Given the description of an element on the screen output the (x, y) to click on. 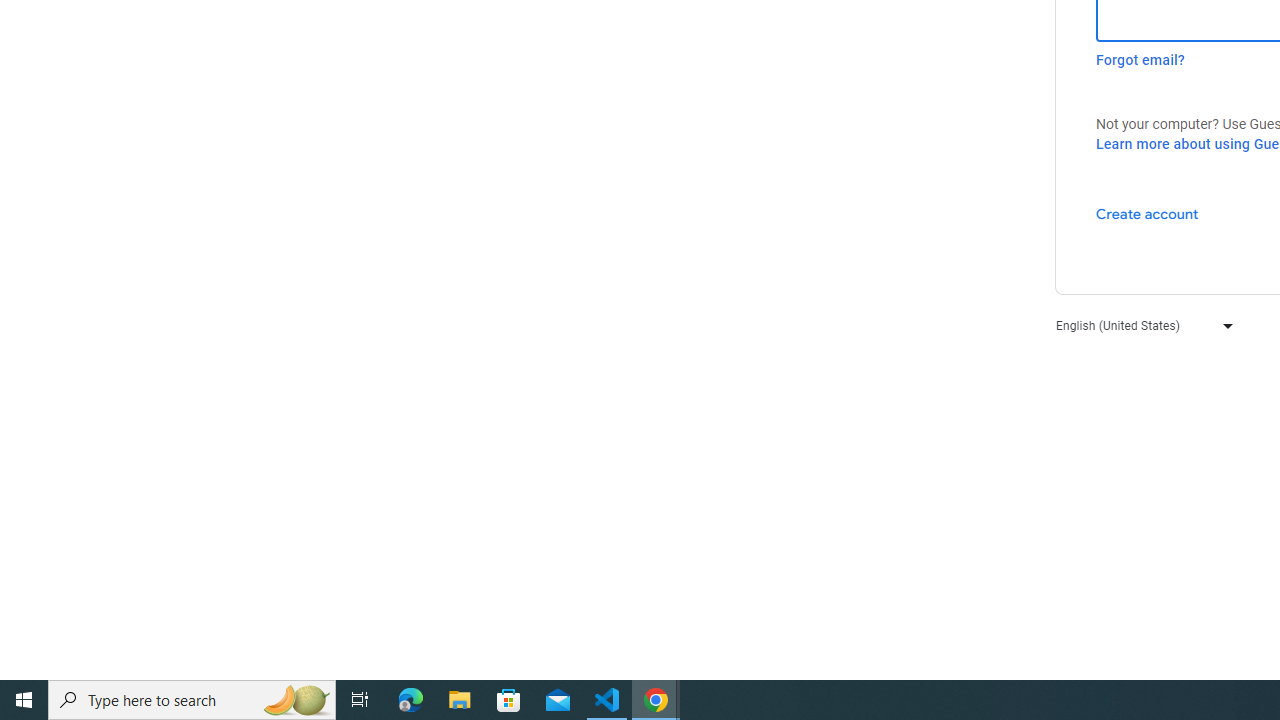
Forgot email? (1140, 59)
English (United States) (1139, 324)
Create account (1146, 213)
